Given the description of an element on the screen output the (x, y) to click on. 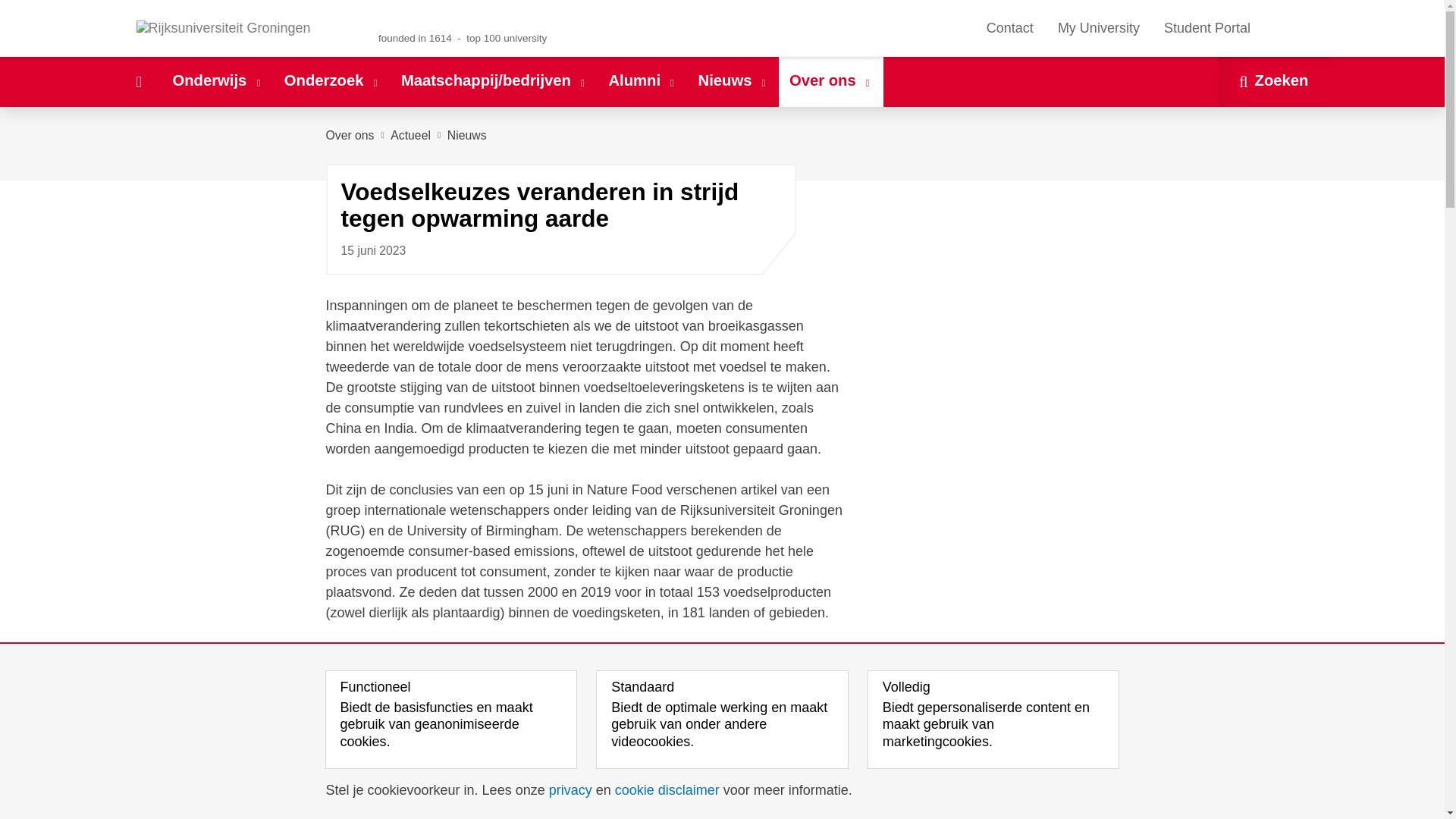
Onderzoek (331, 81)
Taal selectie (1286, 28)
Home (138, 81)
Student Portal (1206, 28)
My University (1098, 28)
English (1293, 28)
Nederlands (1272, 28)
Onderwijs (217, 81)
Contact (1009, 28)
Rijksuniversiteit Groningen (241, 28)
